Given the description of an element on the screen output the (x, y) to click on. 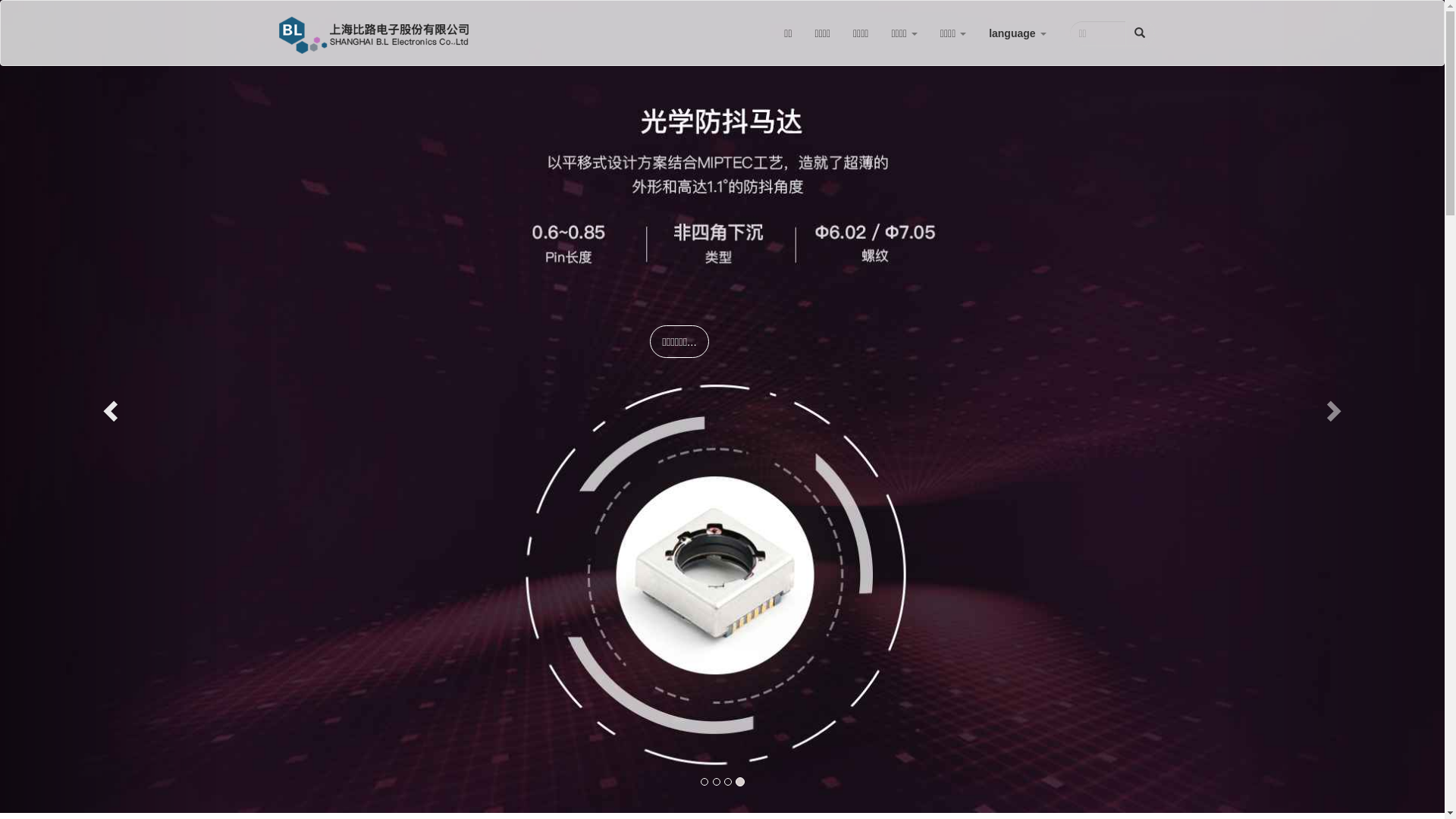
language Element type: text (1017, 32)
